Given the description of an element on the screen output the (x, y) to click on. 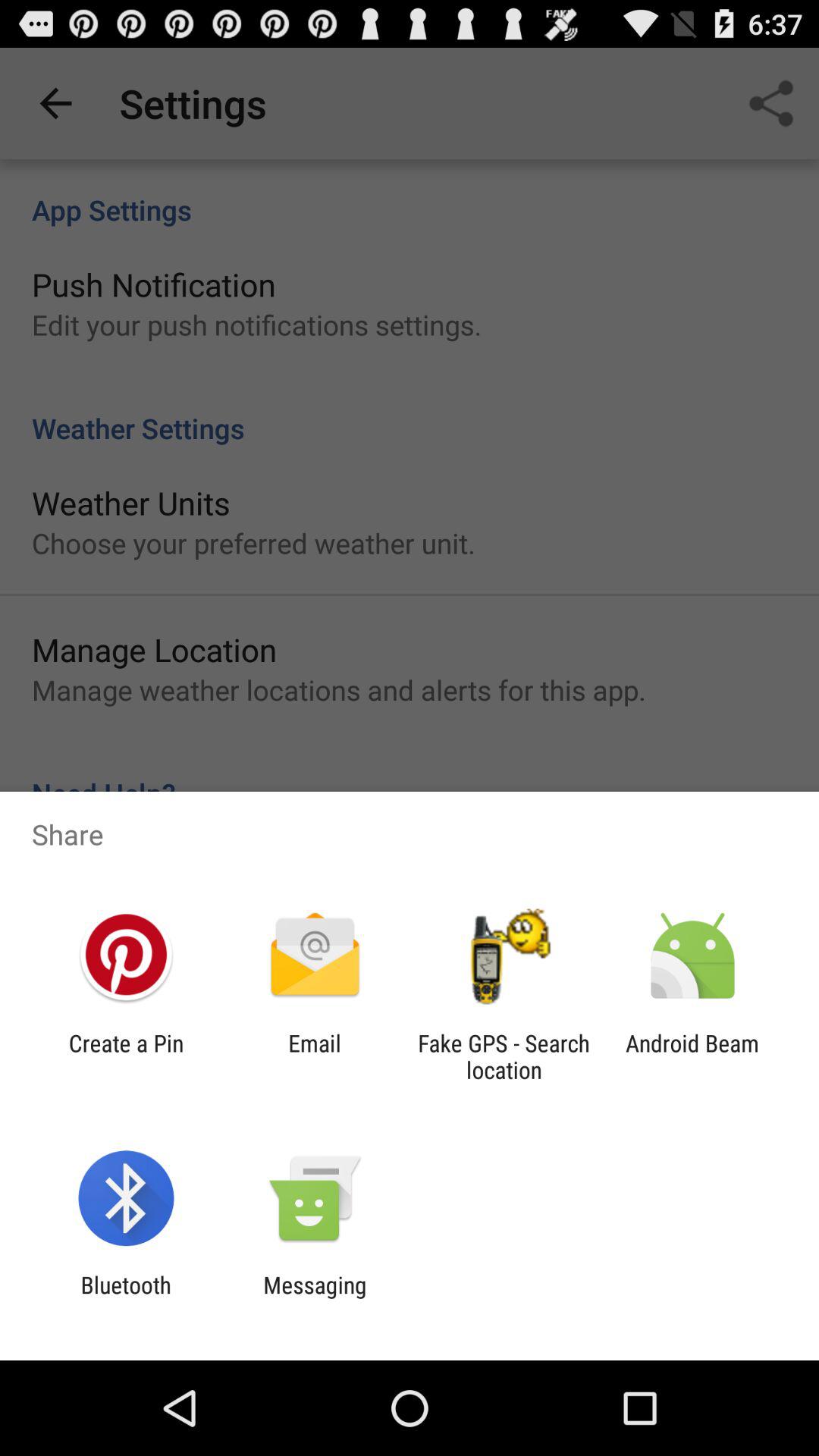
turn off messaging app (314, 1298)
